Given the description of an element on the screen output the (x, y) to click on. 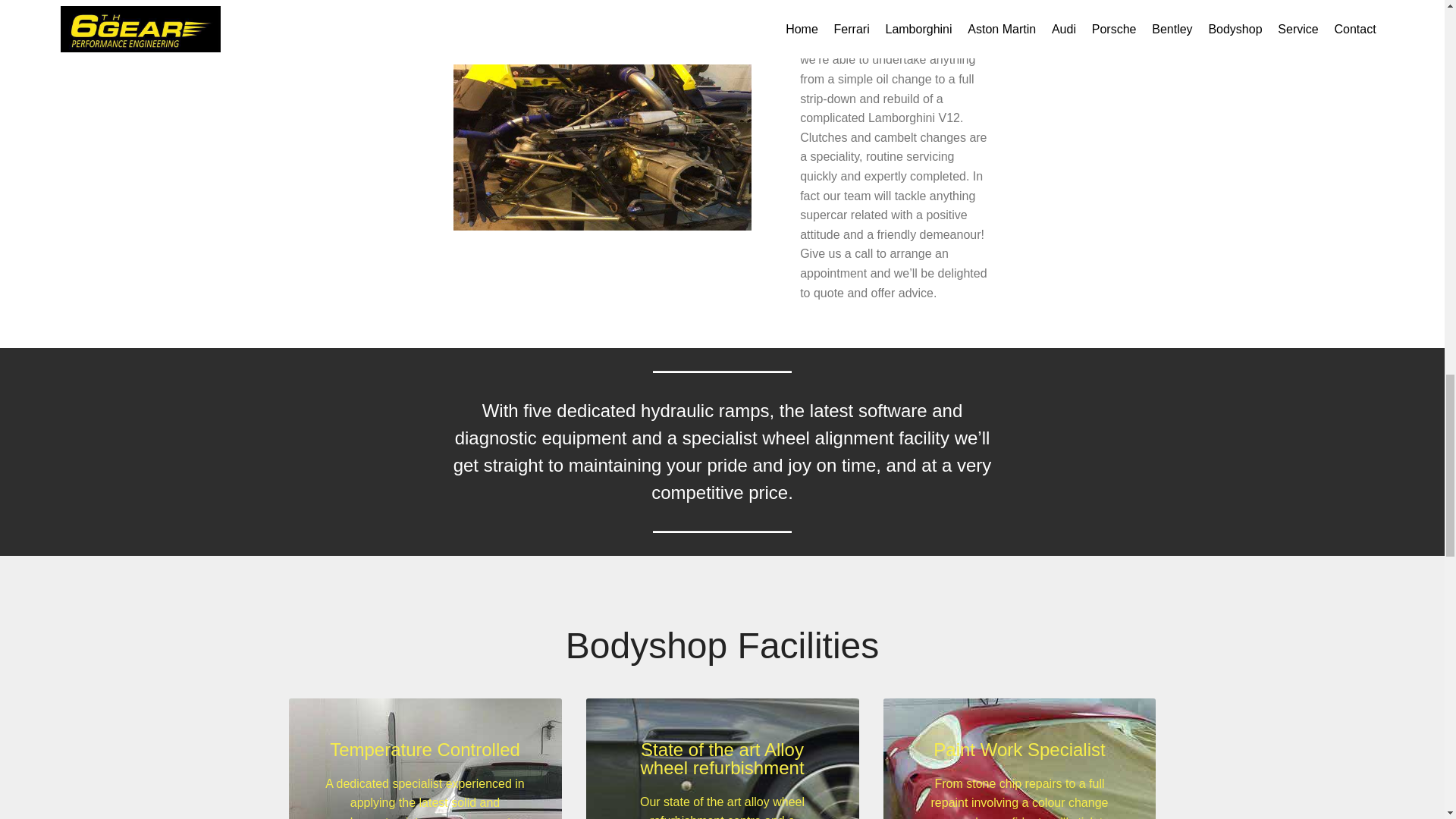
Radical Gear Box (602, 147)
Ferrari in Spray Booth (1110, 758)
Aston Martin Wheel (743, 758)
Audi in spray booth (516, 758)
